Given the description of an element on the screen output the (x, y) to click on. 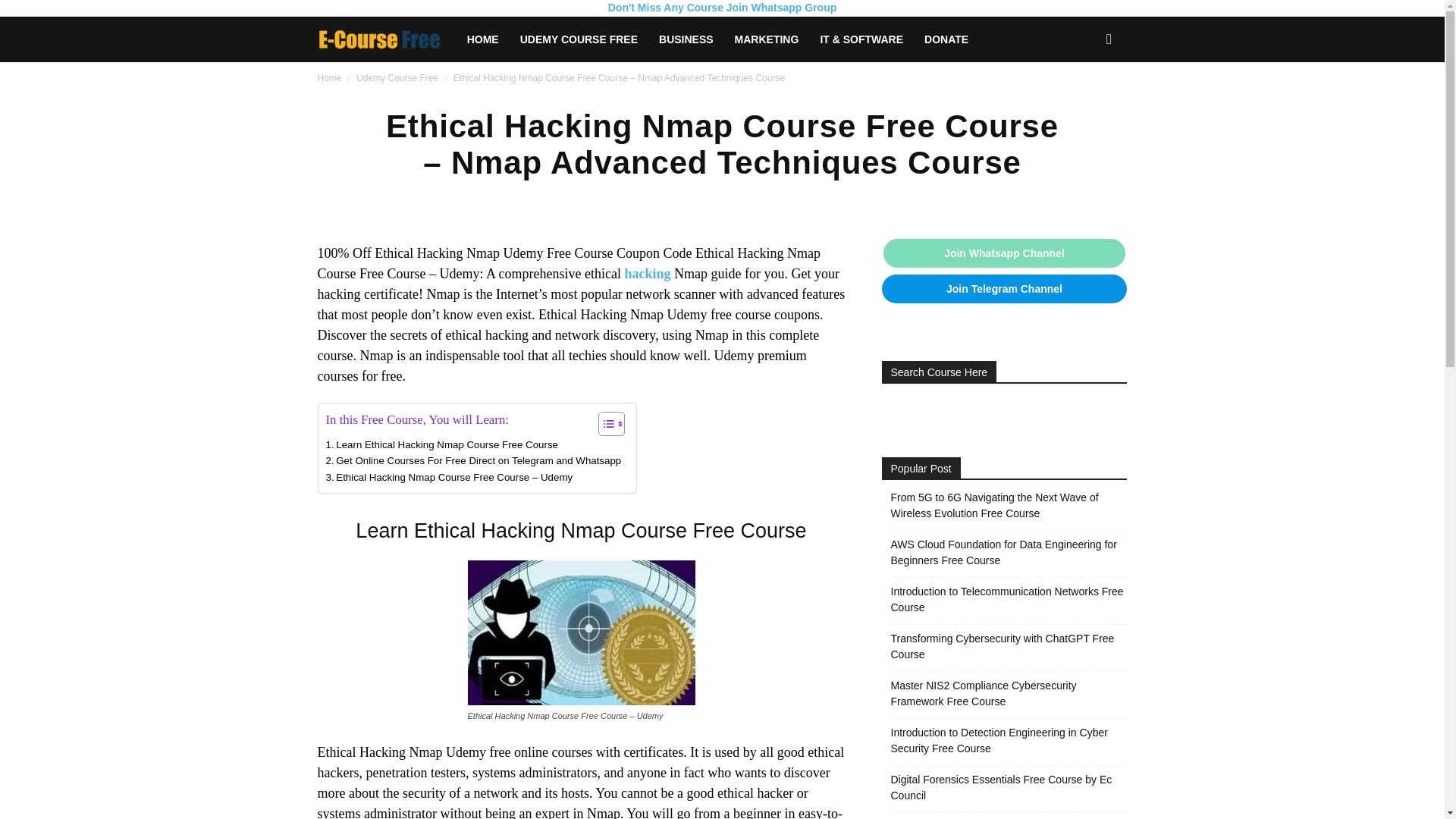
Learn Ethical Hacking Nmap Course Free Course (441, 444)
E- Course free (379, 40)
Get Online Courses For Free Direct on Telegram and Whatsapp (473, 460)
BUSINESS (685, 39)
MARKETING (766, 39)
HOME (483, 39)
ecoursefree (386, 39)
DONATE (946, 39)
UDEMY COURSE FREE (578, 39)
